Given the description of an element on the screen output the (x, y) to click on. 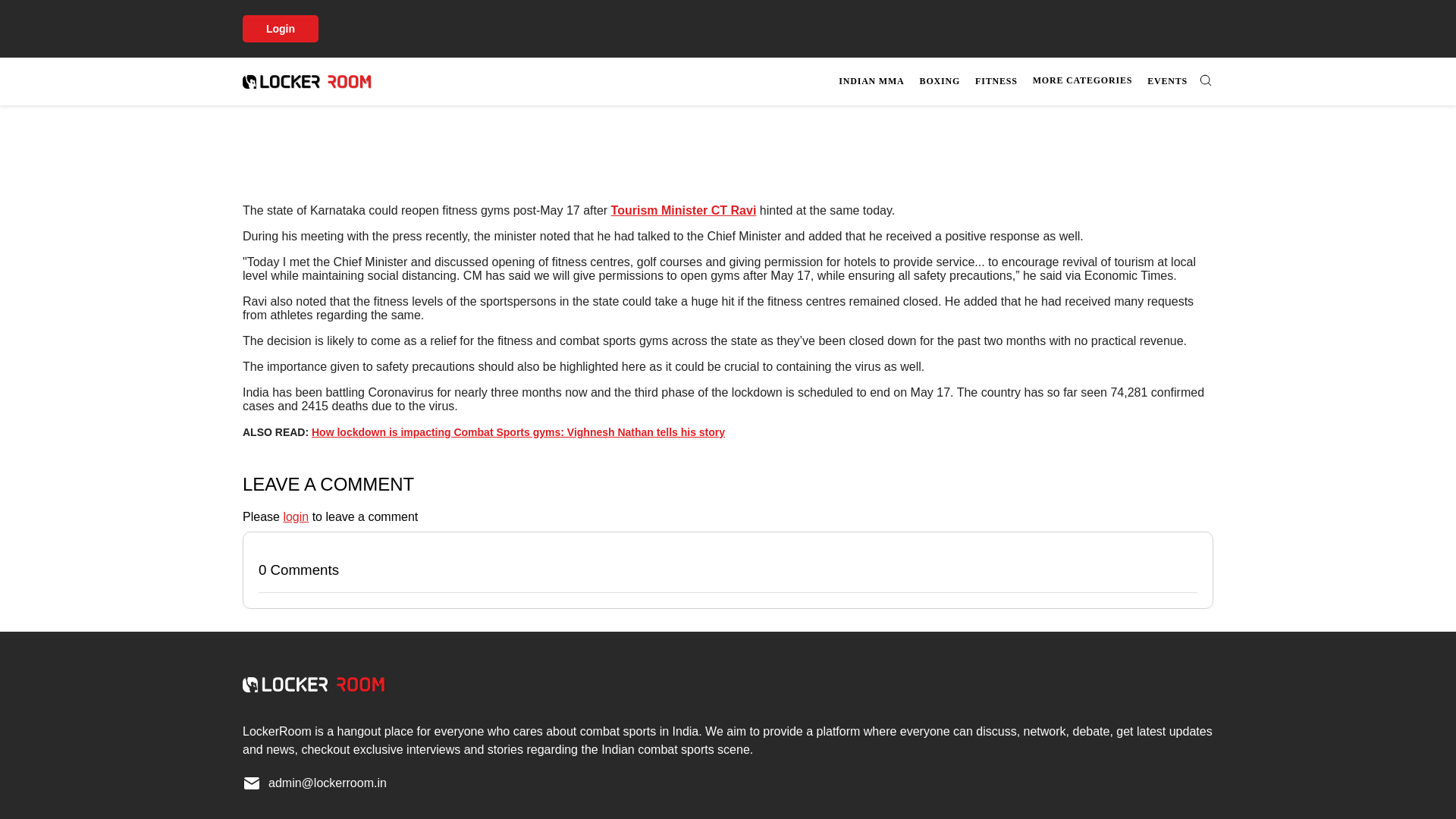
Tourism Minister CT Ravi (684, 210)
